Given the description of an element on the screen output the (x, y) to click on. 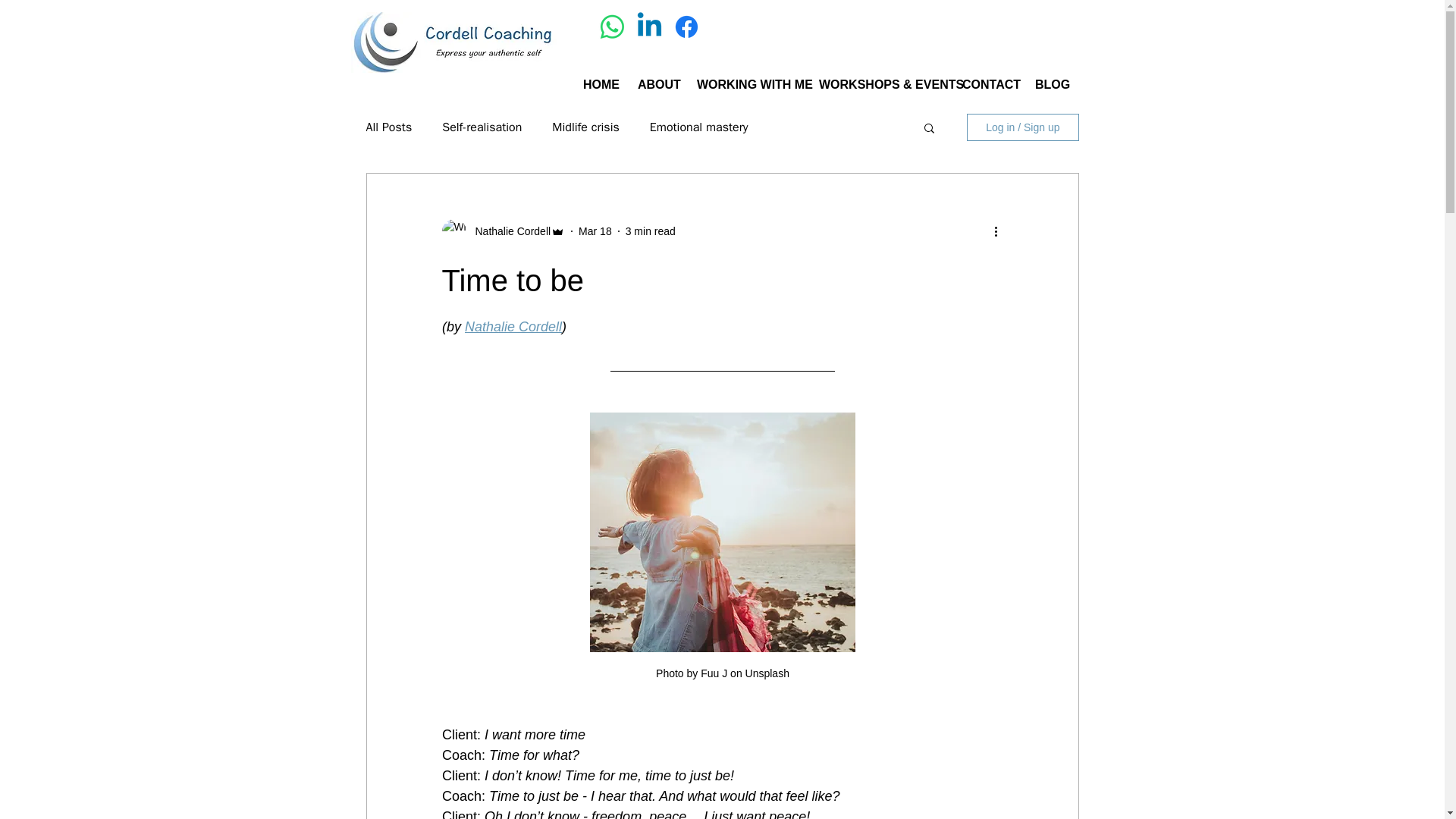
Mar 18 (594, 230)
Self-realisation (481, 127)
HOME (599, 84)
BLOG (1049, 84)
3 min read (650, 230)
Emotional mastery (698, 127)
Nathalie Cordell (507, 230)
CONTACT (986, 84)
All Posts (388, 127)
Midlife crisis (585, 127)
Nathalie Cordell (513, 326)
